Given the description of an element on the screen output the (x, y) to click on. 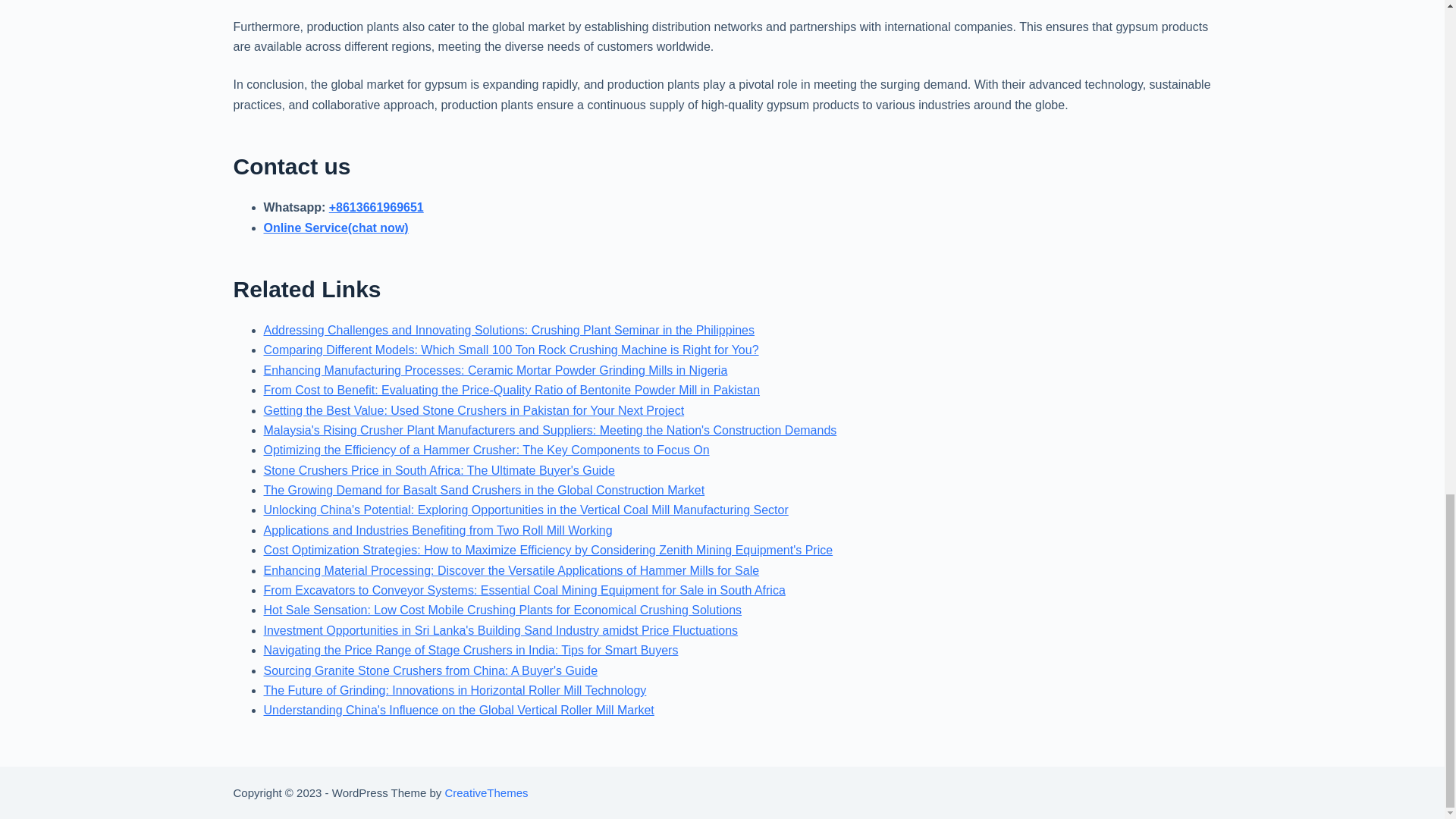
Sourcing Granite Stone Crushers from China: A Buyer's Guide (430, 670)
CreativeThemes (485, 792)
